Given the description of an element on the screen output the (x, y) to click on. 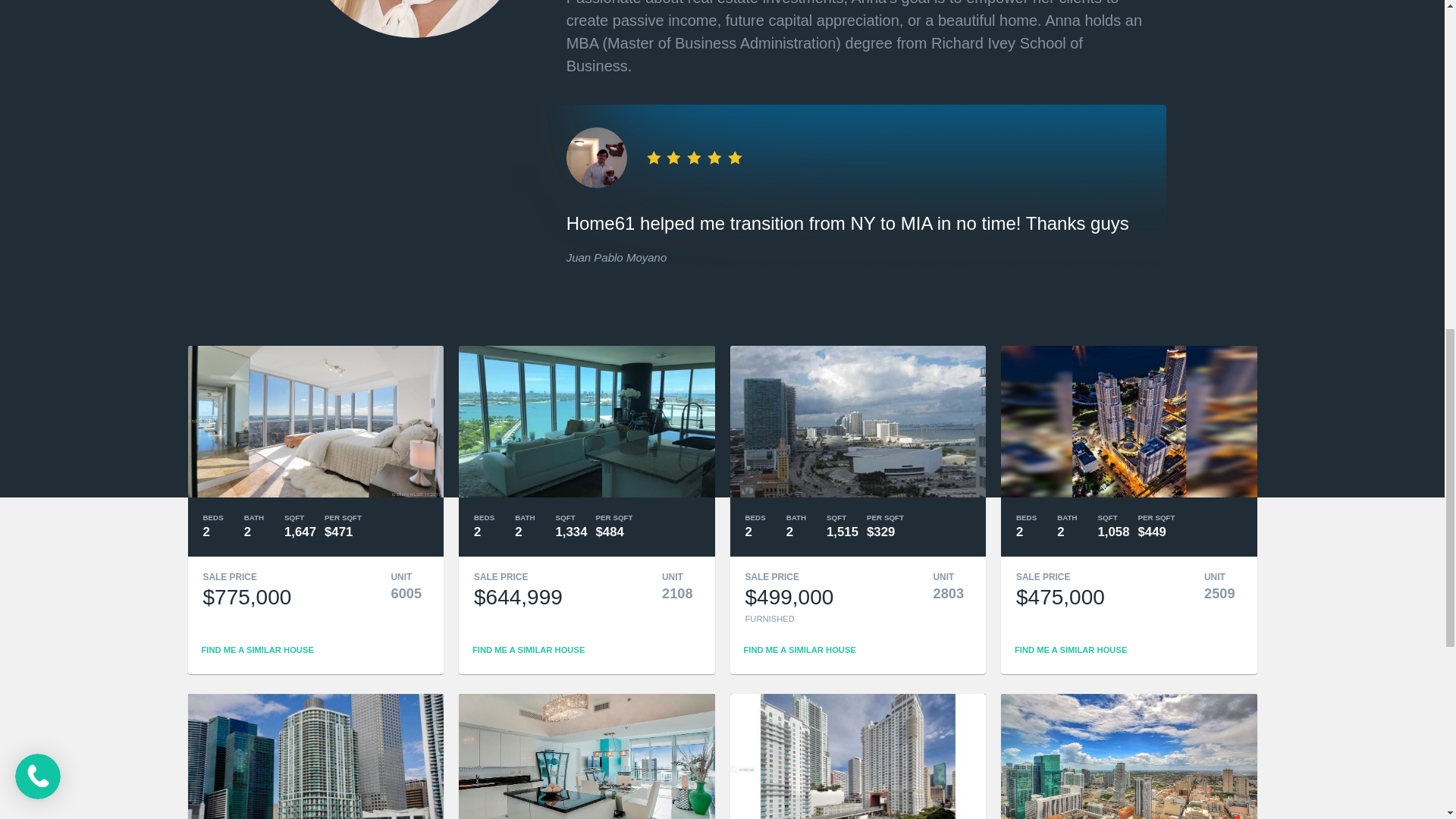
FIND ME A SIMILAR HOUSE (799, 649)
FIND ME A SIMILAR HOUSE (1070, 649)
FIND ME A SIMILAR HOUSE (257, 649)
FIND ME A SIMILAR HOUSE (528, 649)
